Given the description of an element on the screen output the (x, y) to click on. 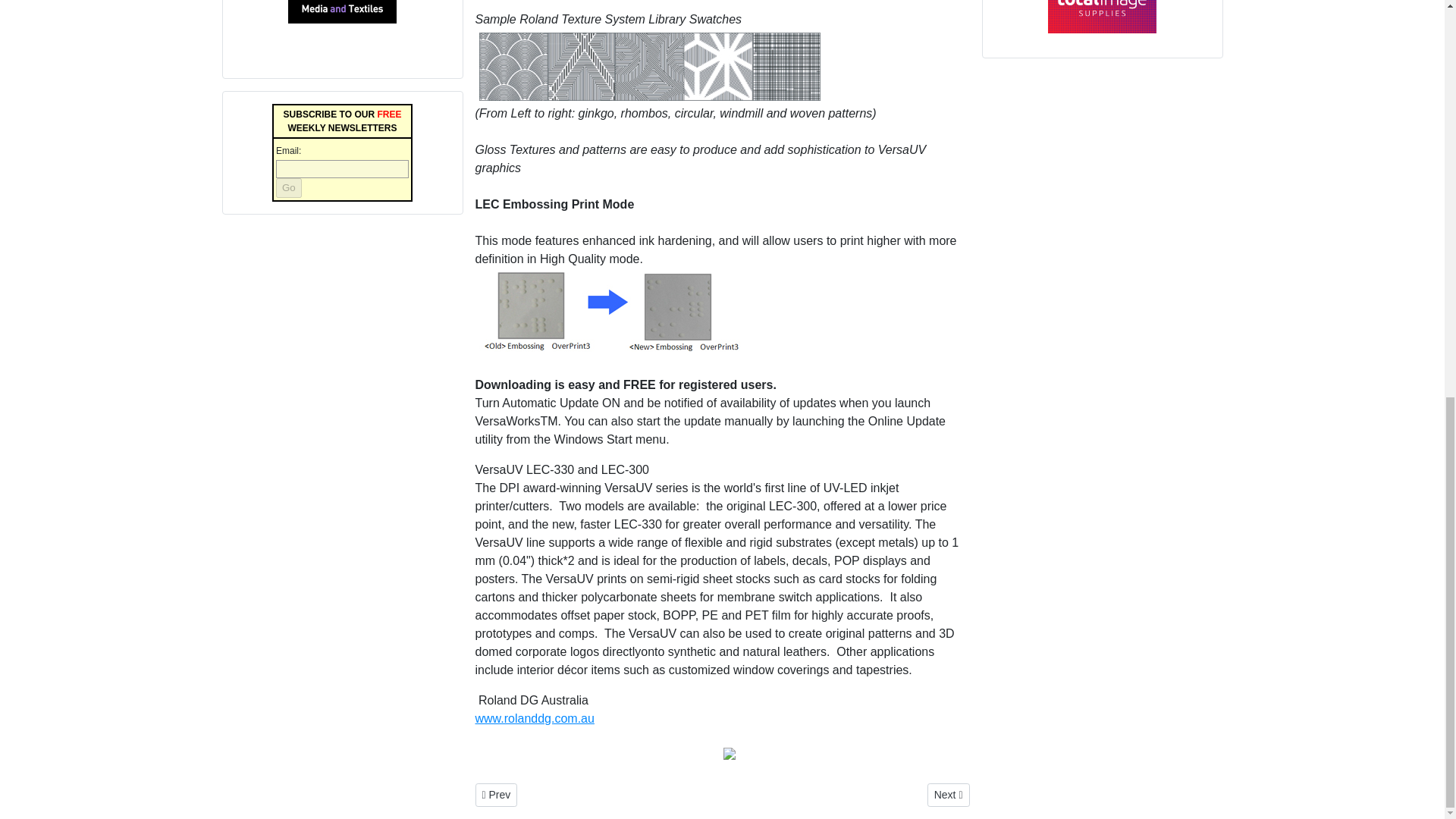
www.rolanddg.com.au (534, 717)
Go (288, 188)
Go (288, 188)
